Given the description of an element on the screen output the (x, y) to click on. 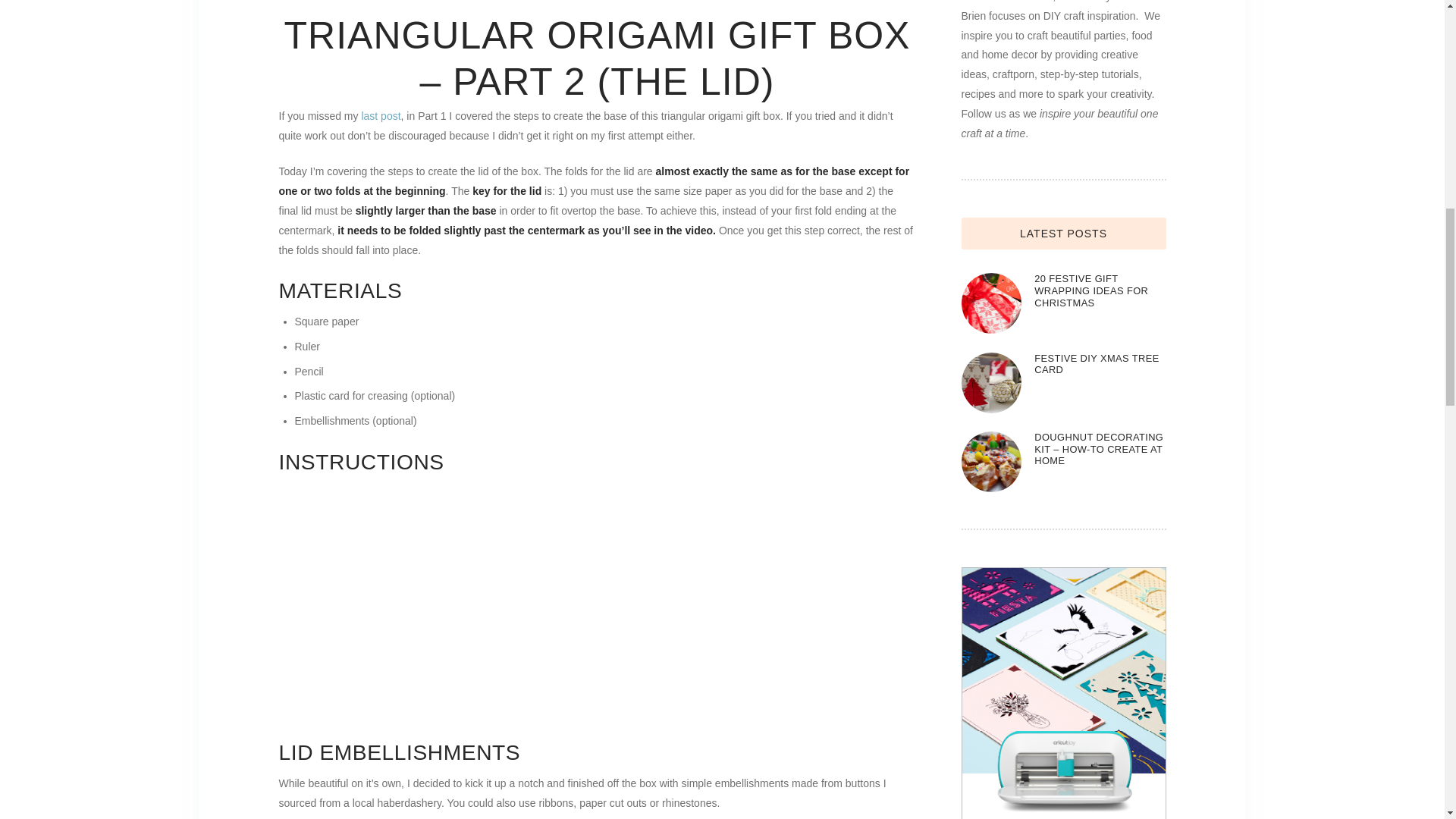
last post (380, 115)
